Given the description of an element on the screen output the (x, y) to click on. 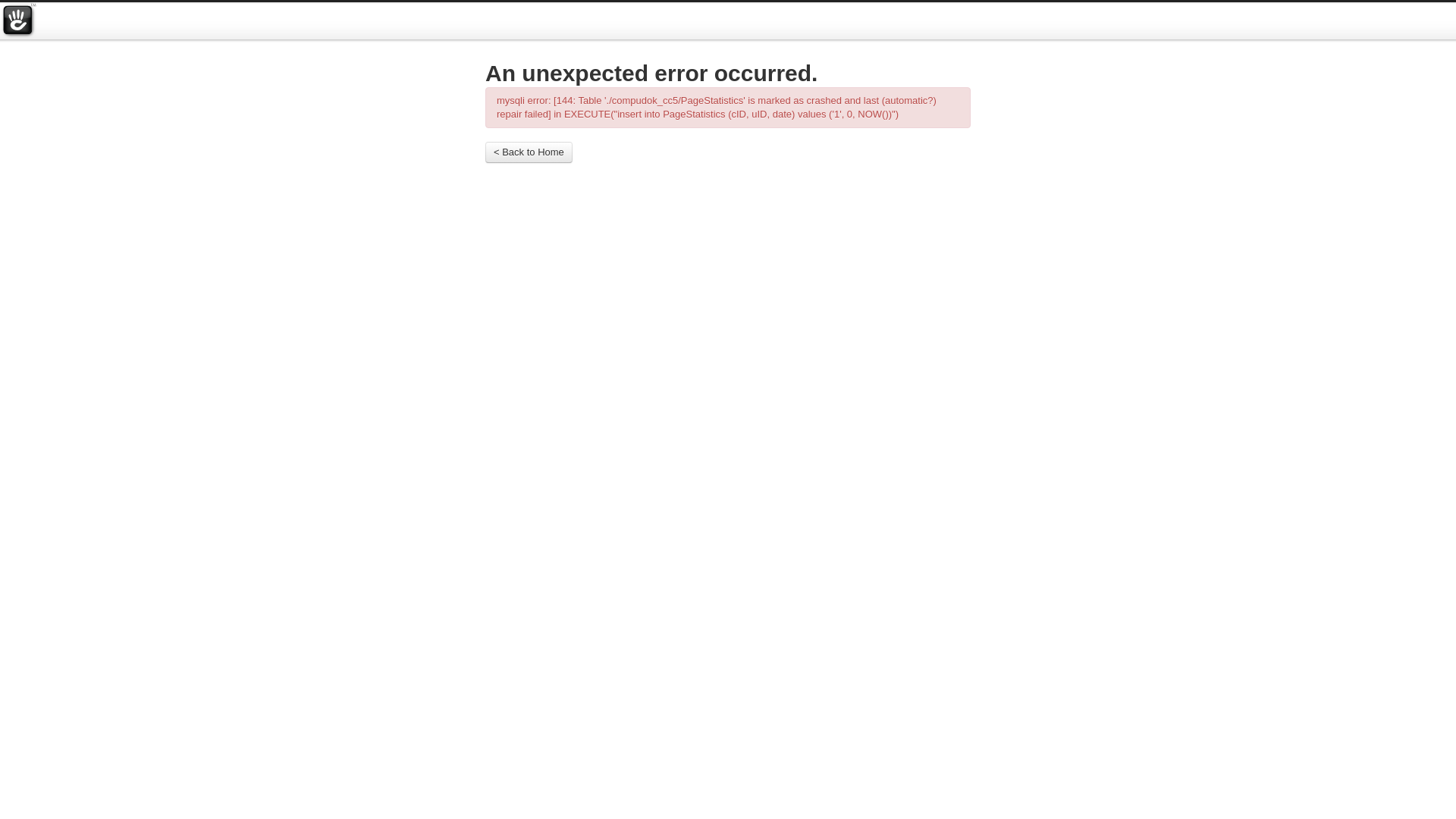
< Back to Home Element type: text (528, 152)
concrete5 Element type: hover (18, 20)
